Given the description of an element on the screen output the (x, y) to click on. 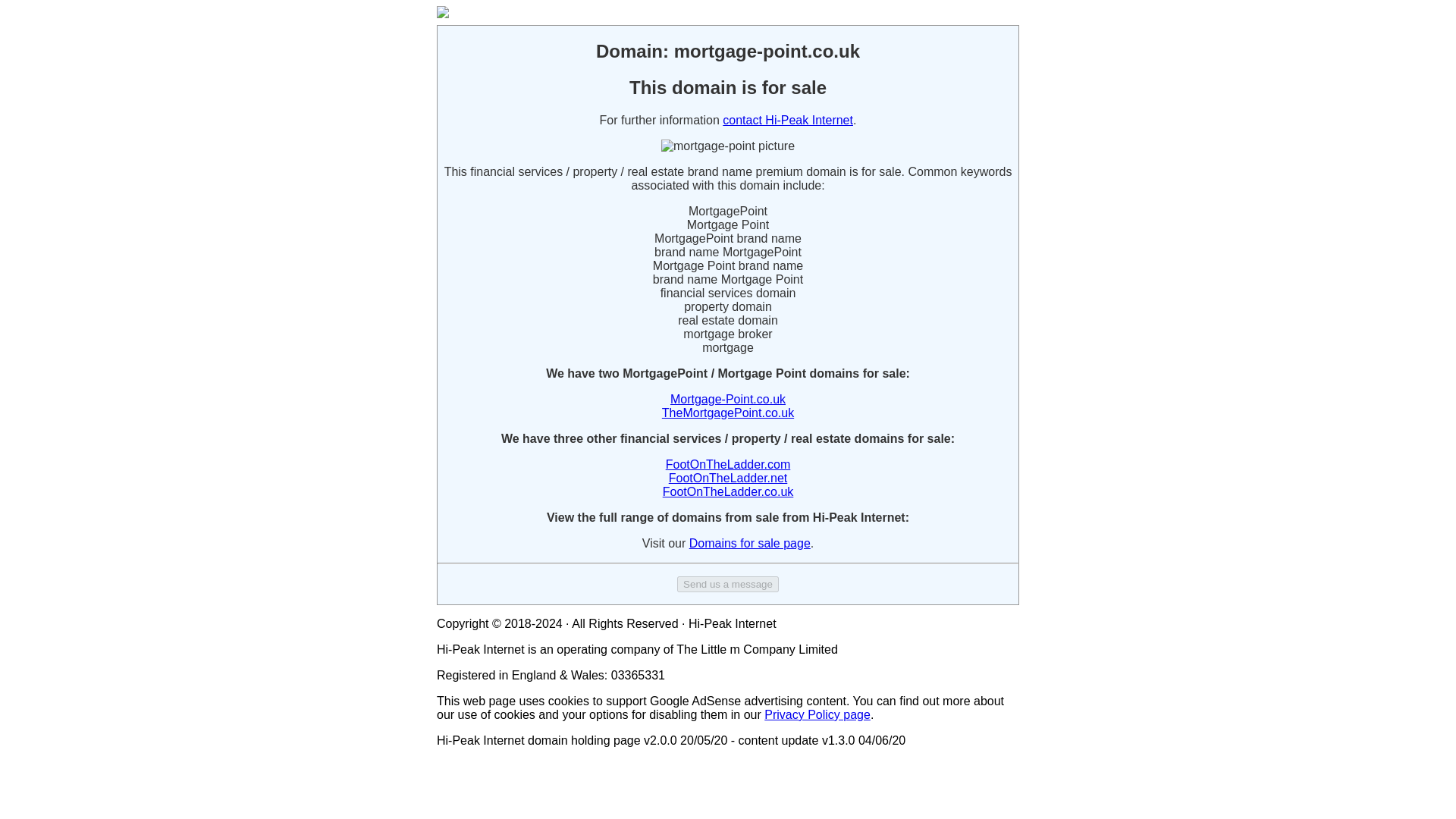
Privacy Policy page (817, 714)
Send us a message (727, 583)
FootOnTheLadder.co.uk (727, 491)
FootOnTheLadder.net (727, 477)
Send us a message (727, 584)
Domains for sale page (749, 543)
Mortgage-Point.co.uk (727, 399)
TheMortgagePoint.co.uk (727, 412)
contact Hi-Peak Internet (787, 119)
FootOnTheLadder.com (727, 463)
